Given the description of an element on the screen output the (x, y) to click on. 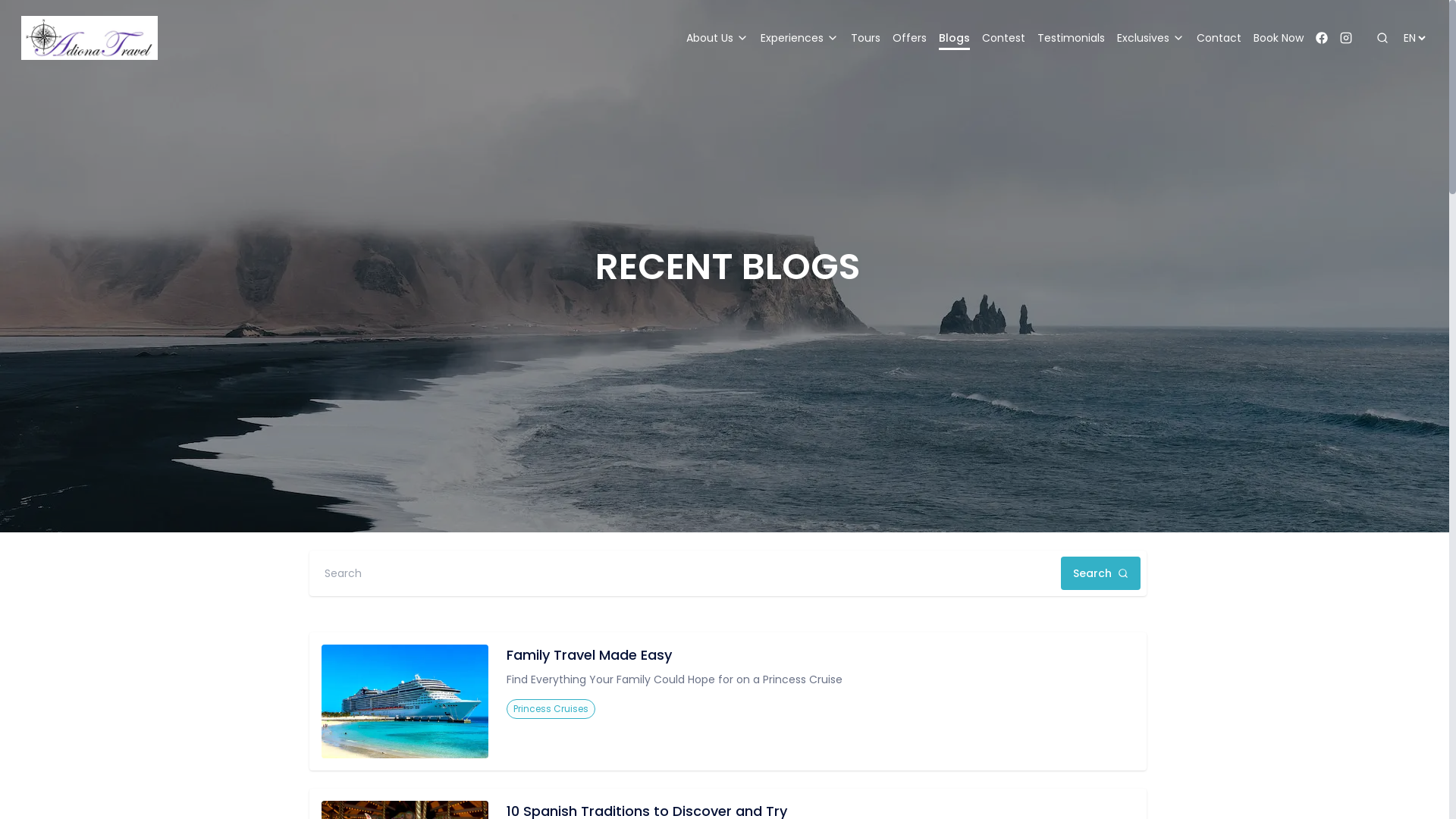
Offers Element type: text (909, 37)
Contact Element type: text (1218, 37)
Princess Cruises Element type: text (550, 708)
About Us Element type: text (717, 37)
Contest Element type: text (1003, 37)
Blogs Element type: text (953, 37)
Search Element type: text (1100, 572)
Exclusives Element type: text (1150, 37)
Experiences Element type: text (799, 37)
Book Now Element type: text (1278, 37)
Tours Element type: text (865, 37)
Testimonials Element type: text (1070, 37)
